Given the description of an element on the screen output the (x, y) to click on. 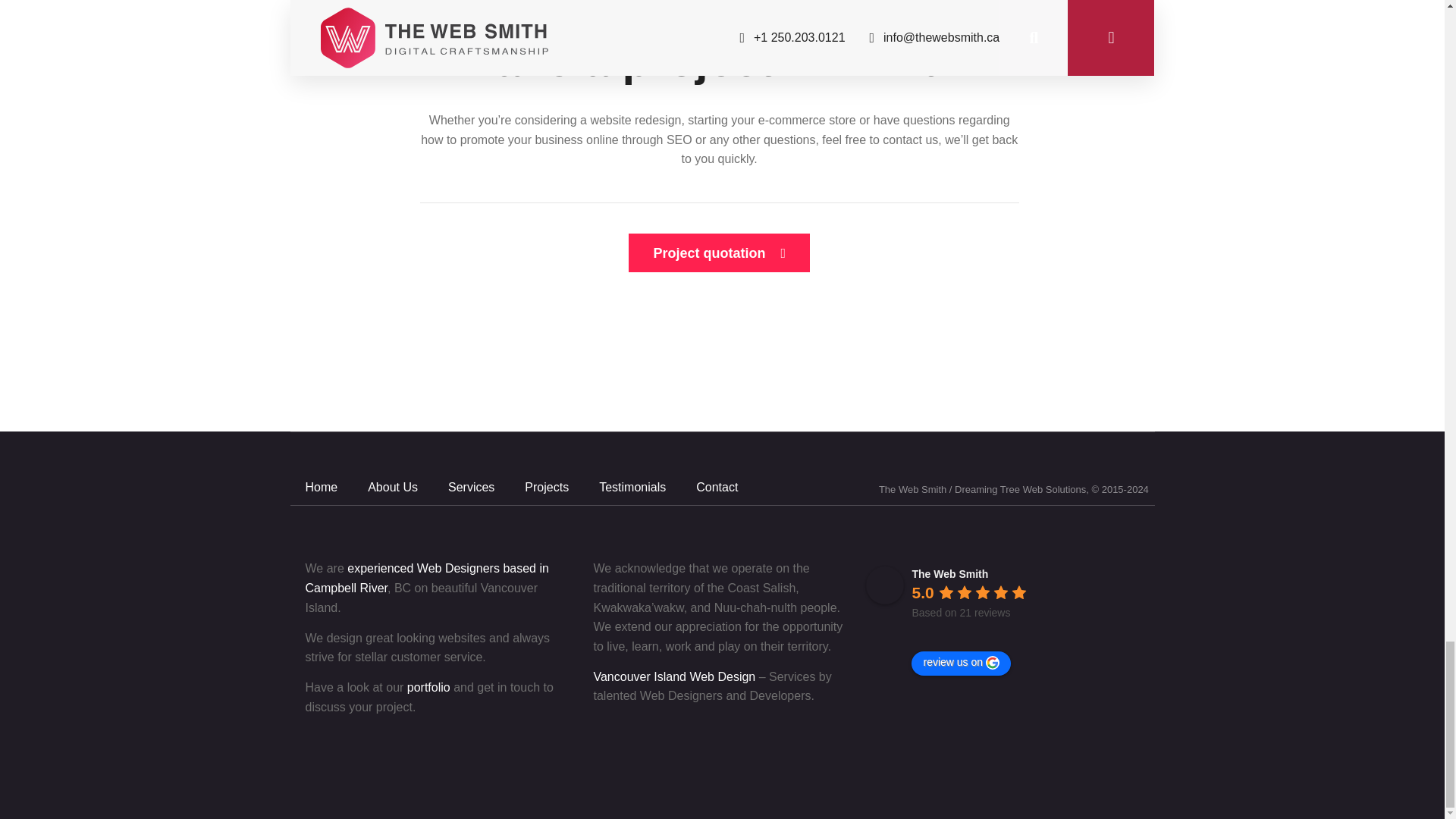
Home (320, 487)
Projects (546, 487)
Project quotation (718, 252)
About Us (392, 487)
Contact (716, 487)
Services (470, 487)
powered by Google (965, 631)
The Web Smith (885, 585)
Testimonials (632, 487)
